Given the description of an element on the screen output the (x, y) to click on. 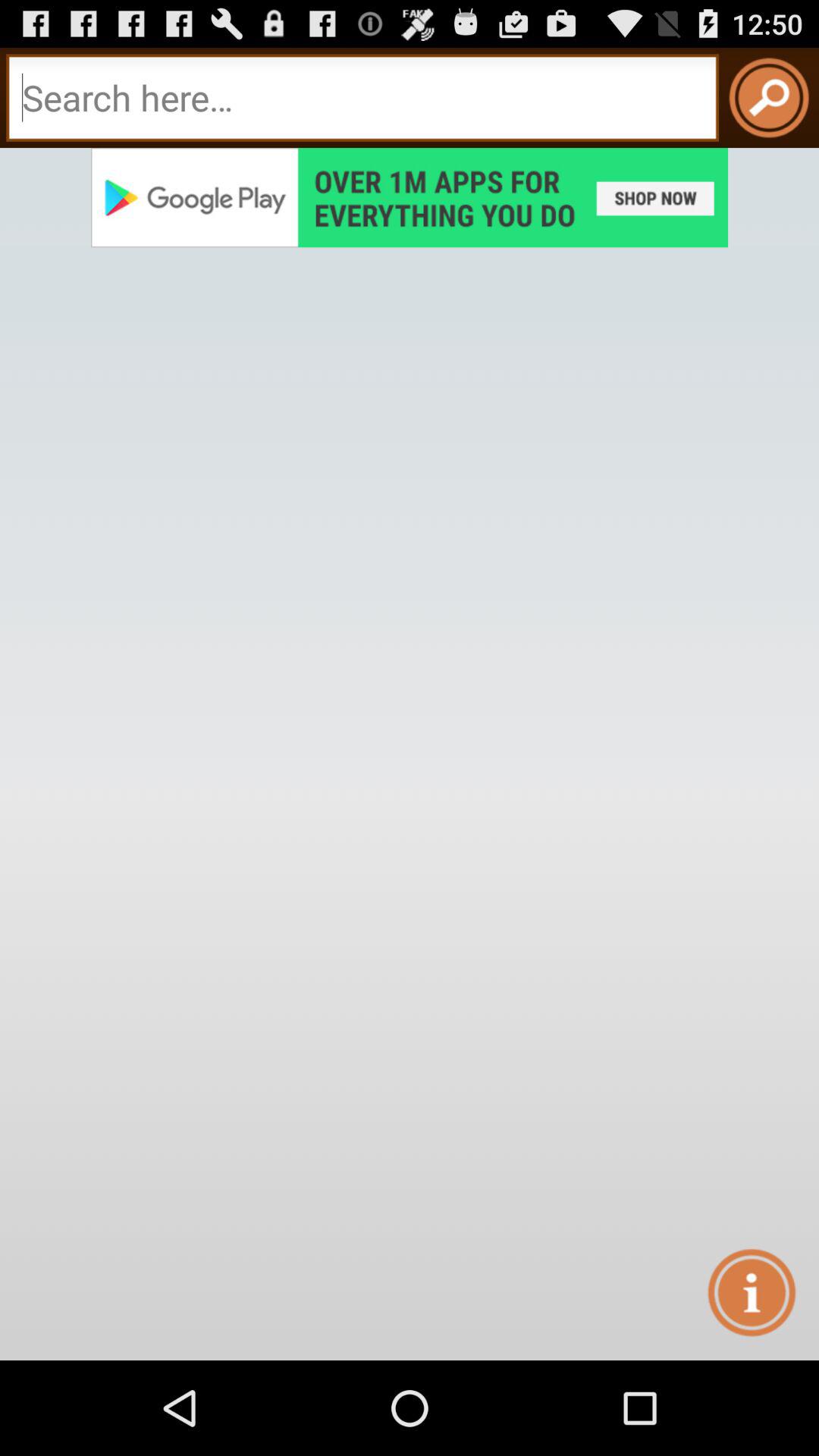
go to search option (362, 97)
